Given the description of an element on the screen output the (x, y) to click on. 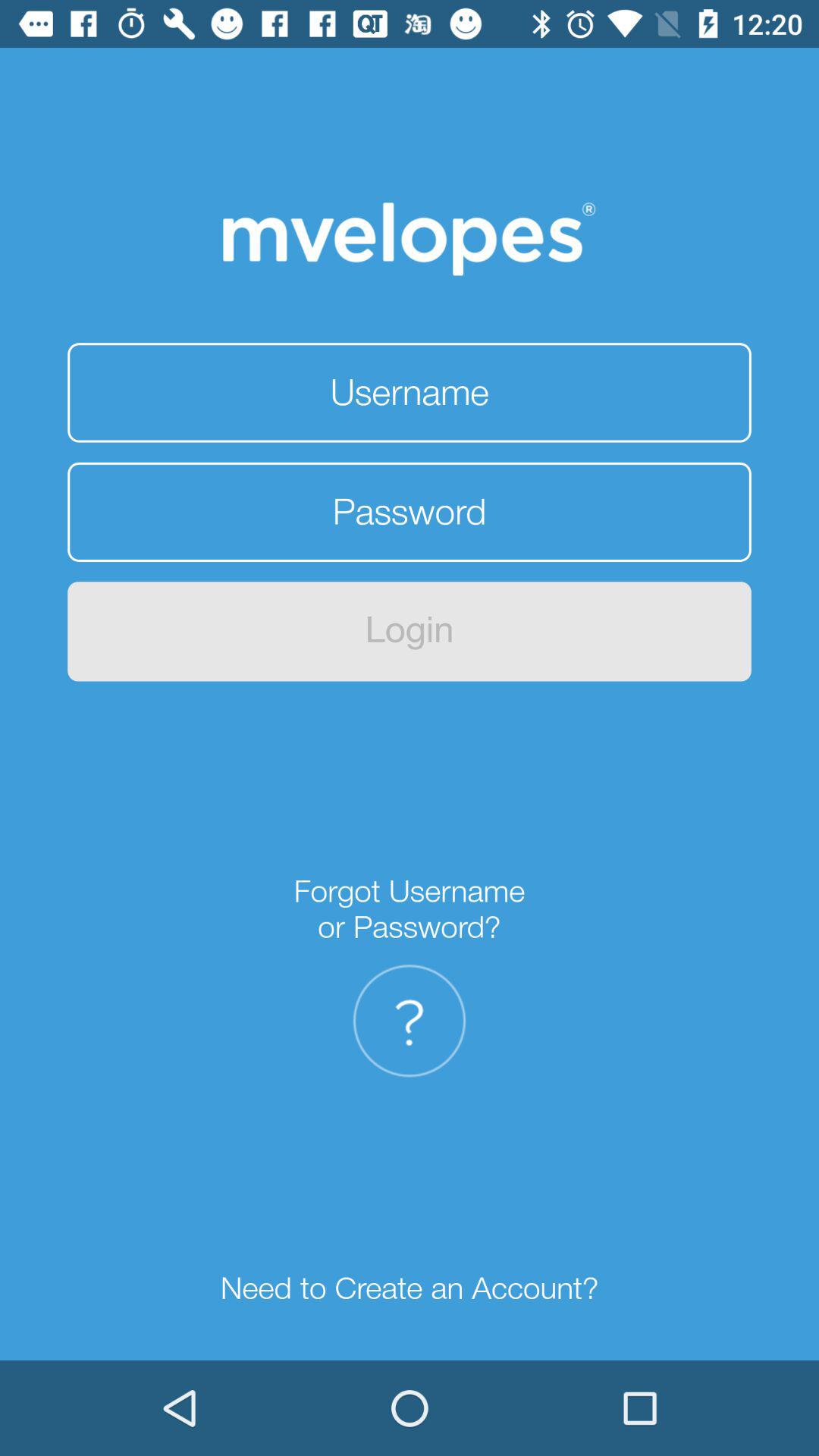
open field to enter username (409, 392)
